Given the description of an element on the screen output the (x, y) to click on. 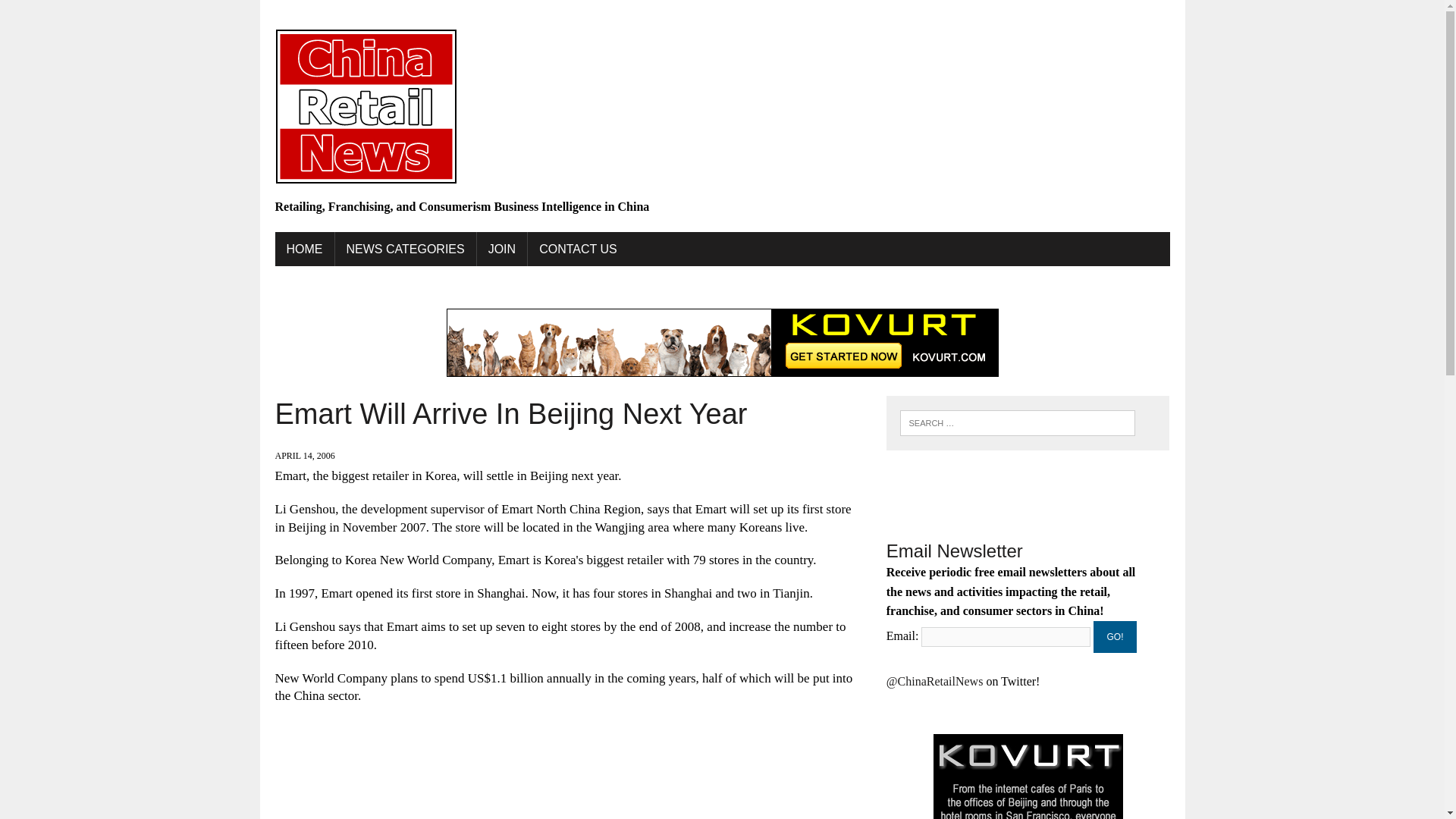
Contact Us (577, 248)
Advertisement (569, 769)
 GO!  (1115, 636)
Search (75, 14)
NEWS CATEGORIES (405, 248)
HOME (304, 248)
Join (502, 248)
JOIN (502, 248)
CONTACT US (577, 248)
